Given the description of an element on the screen output the (x, y) to click on. 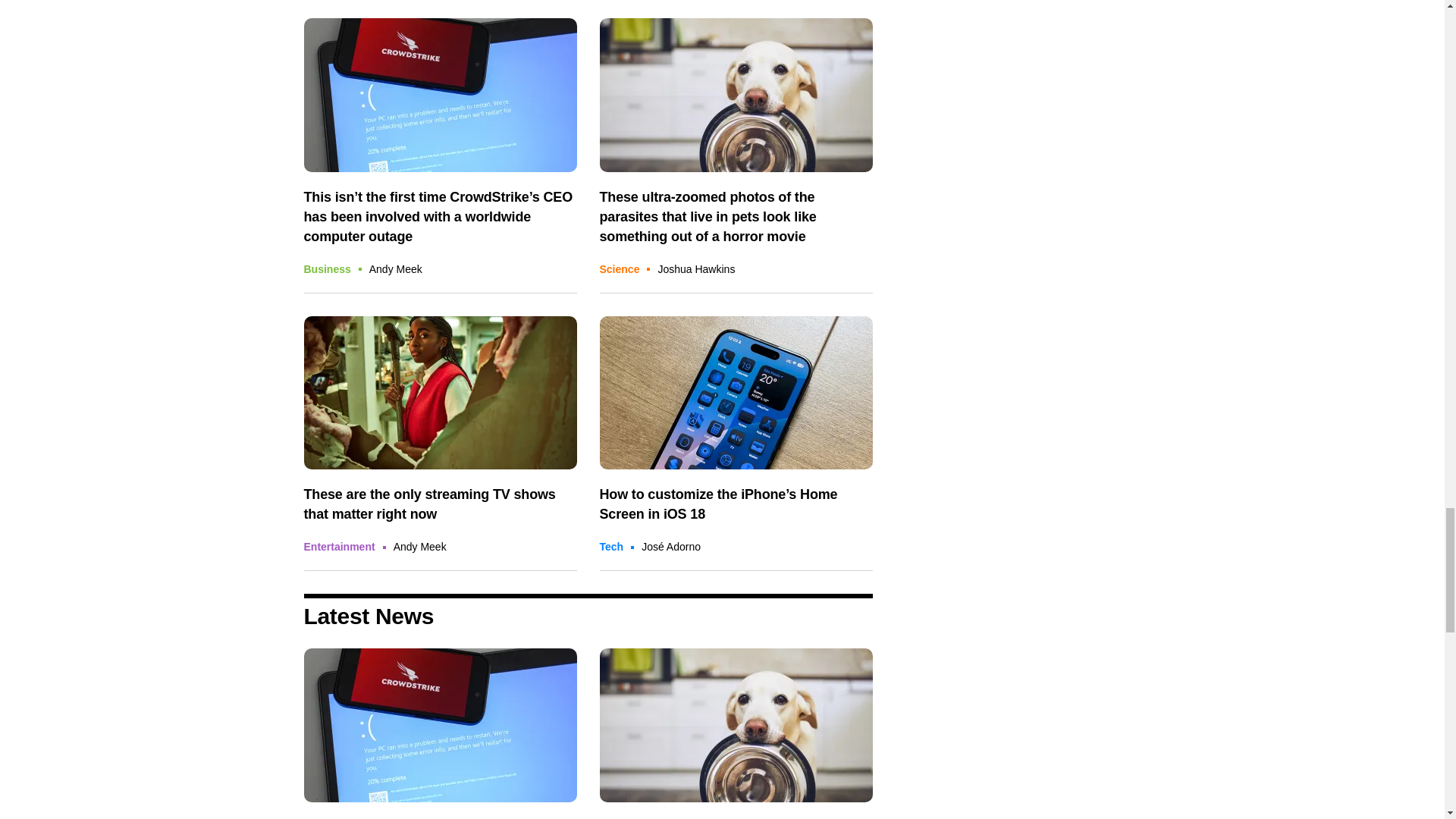
Posts by Joshua Hawkins (696, 268)
Posts by Andy Meek (395, 268)
CrowdStrike (439, 94)
CrowdStrike (439, 725)
TV shows (439, 393)
parasites (735, 725)
Posts by Andy Meek (419, 546)
parasites (735, 94)
